Given the description of an element on the screen output the (x, y) to click on. 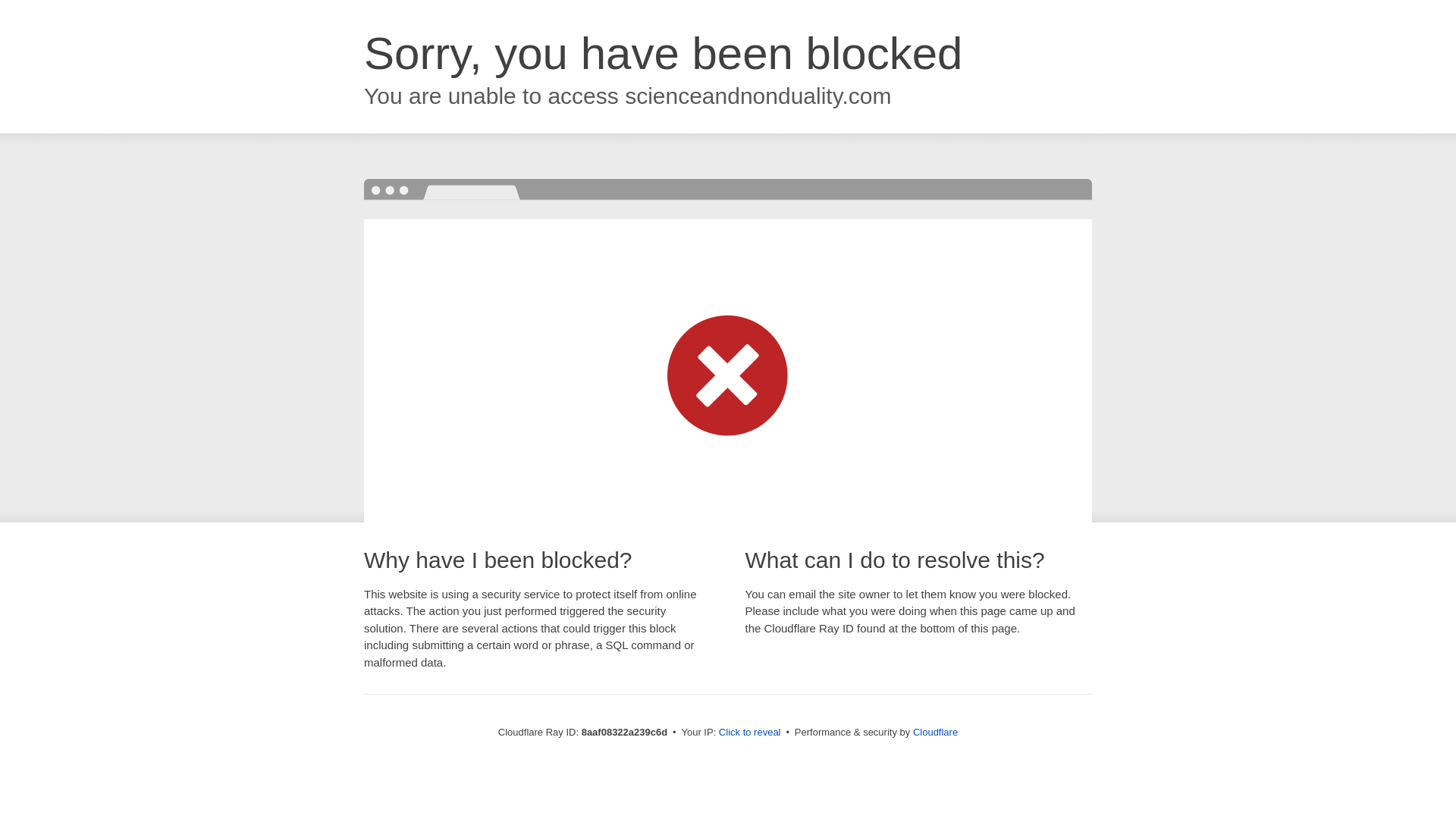
Click to reveal (749, 732)
Cloudflare (935, 731)
